Given the description of an element on the screen output the (x, y) to click on. 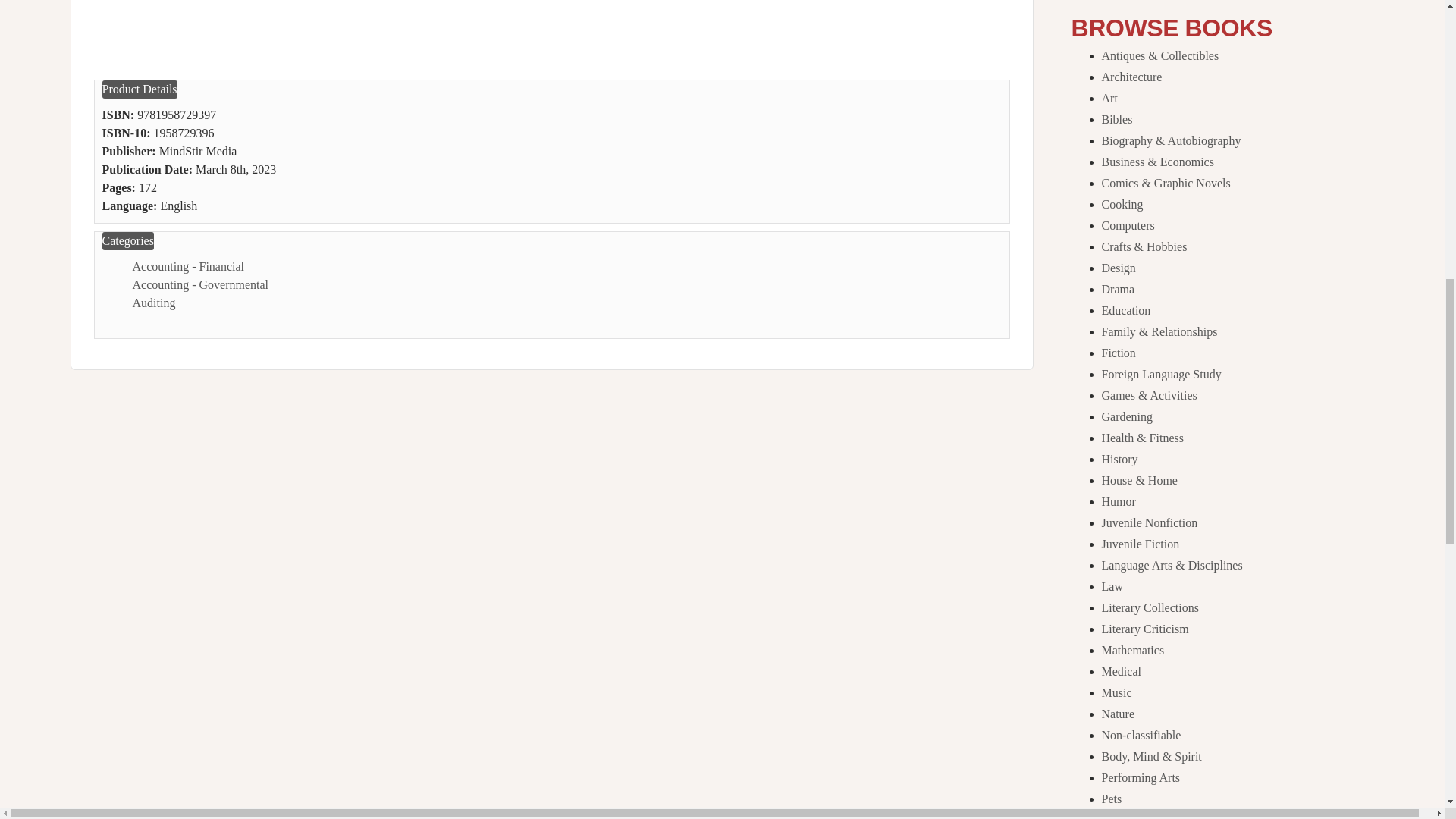
Auditing (153, 302)
Architecture (1130, 76)
Drama (1117, 288)
Bibles (1116, 119)
Design (1117, 267)
Accounting - Governmental (199, 284)
Cooking (1121, 204)
Computers (1127, 225)
Education (1125, 309)
Accounting - Financial (188, 266)
Fiction (1117, 352)
Art (1108, 97)
